Given the description of an element on the screen output the (x, y) to click on. 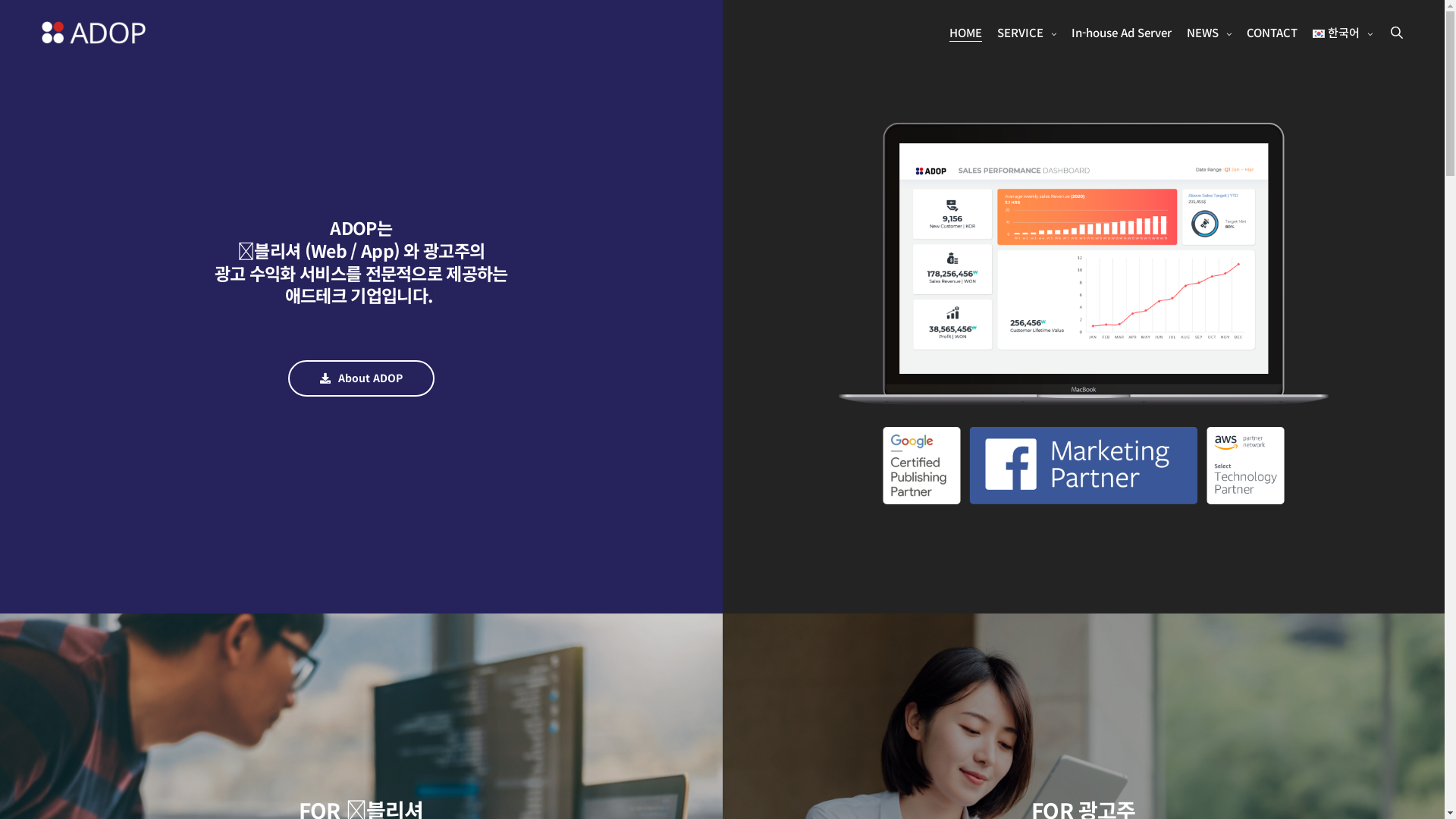
About ADOP Element type: text (361, 378)
NEWS Element type: text (1208, 32)
SERVICE Element type: text (1025, 32)
In-house Ad Server Element type: text (1120, 32)
CONTACT Element type: text (1271, 32)
HOME Element type: text (965, 32)
